Given the description of an element on the screen output the (x, y) to click on. 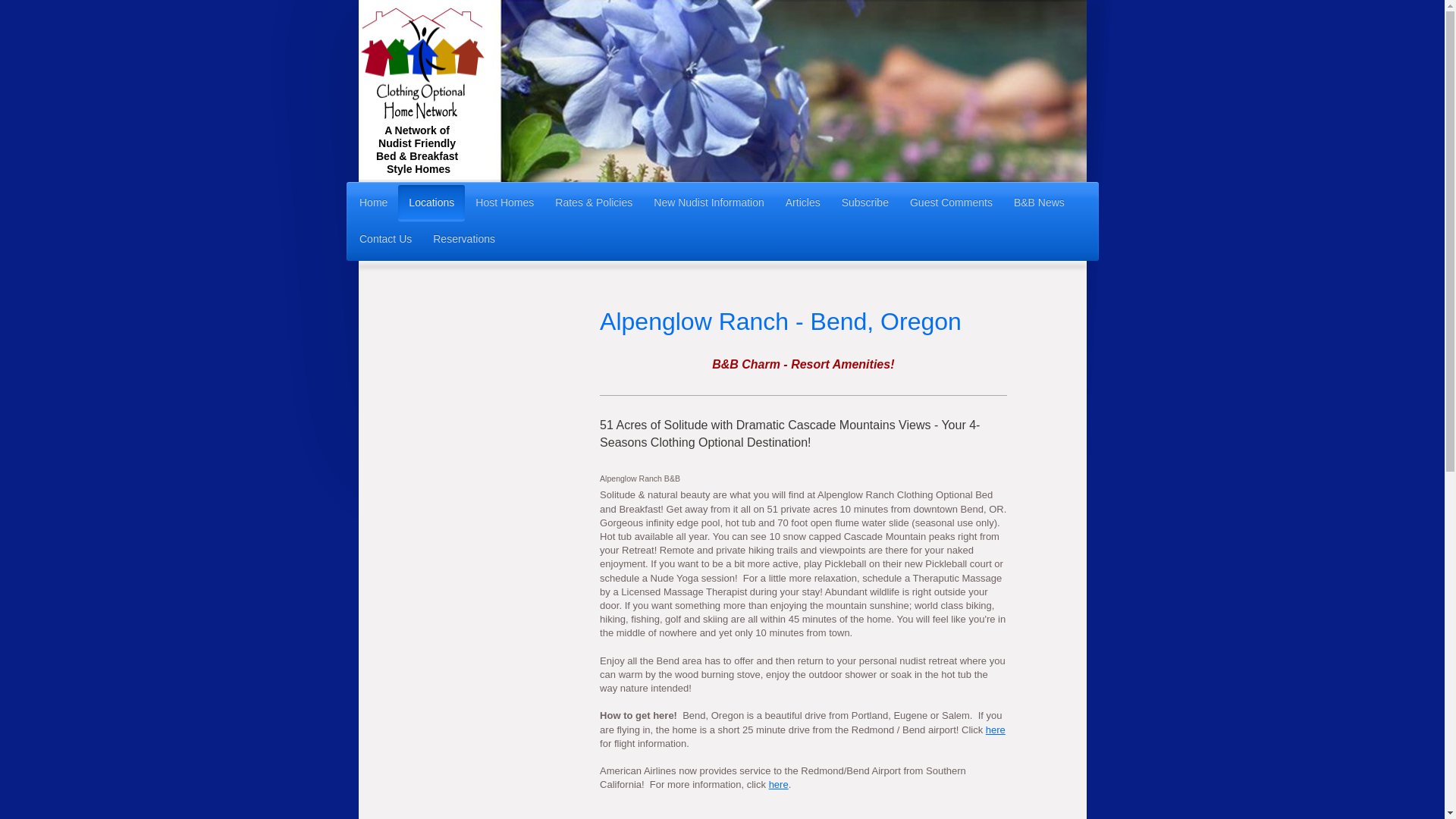
Locations (430, 203)
Guest Comments (951, 203)
Reservations (463, 239)
Subscribe (865, 203)
Home (373, 203)
here (995, 729)
Articles (802, 203)
Host Homes (504, 203)
here (778, 784)
Contact Us (385, 239)
